Given the description of an element on the screen output the (x, y) to click on. 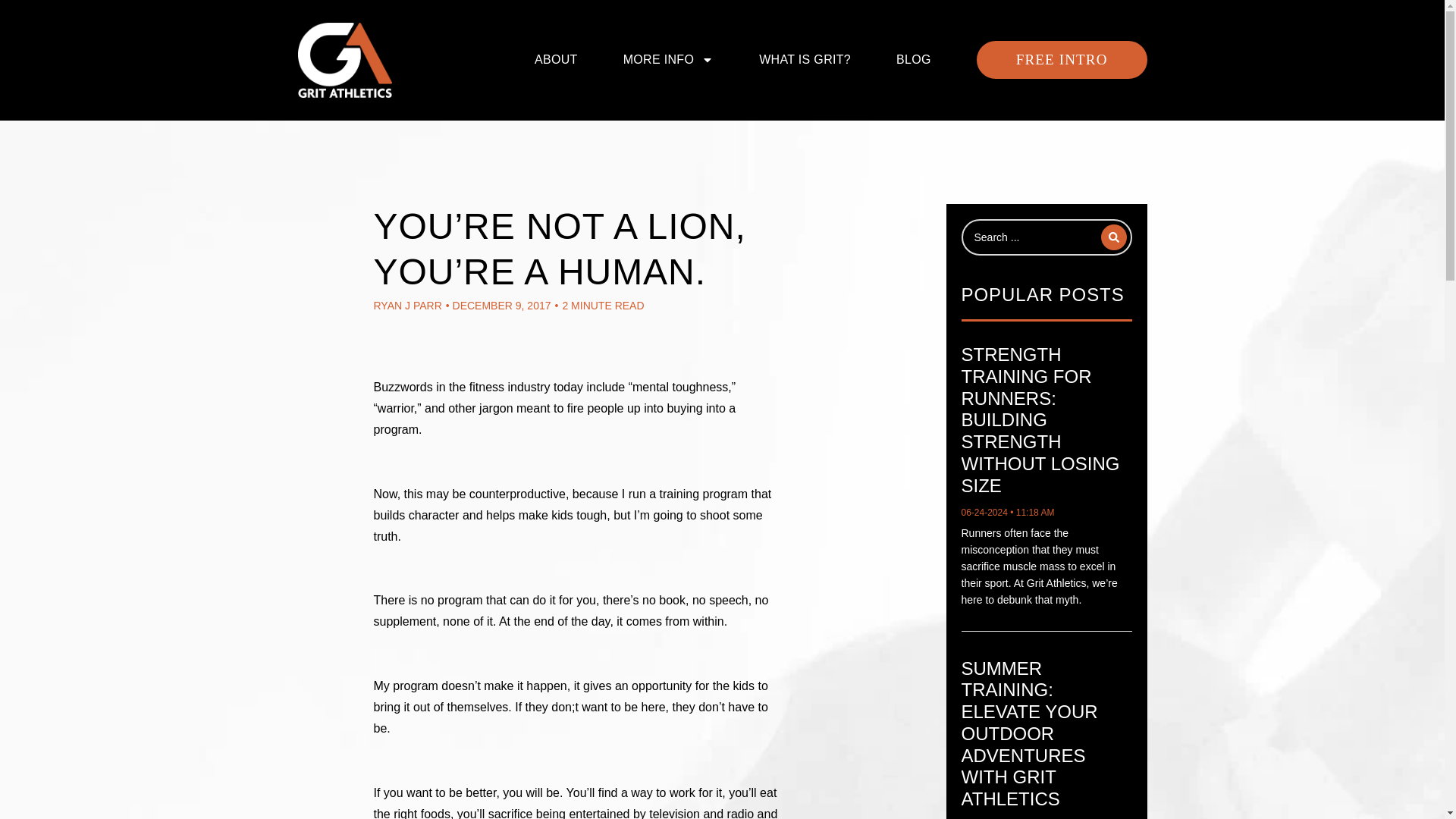
BLOG (913, 59)
FREE INTRO (1061, 59)
MORE INFO (668, 59)
ABOUT (556, 59)
WHAT IS GRIT? (804, 59)
